Given the description of an element on the screen output the (x, y) to click on. 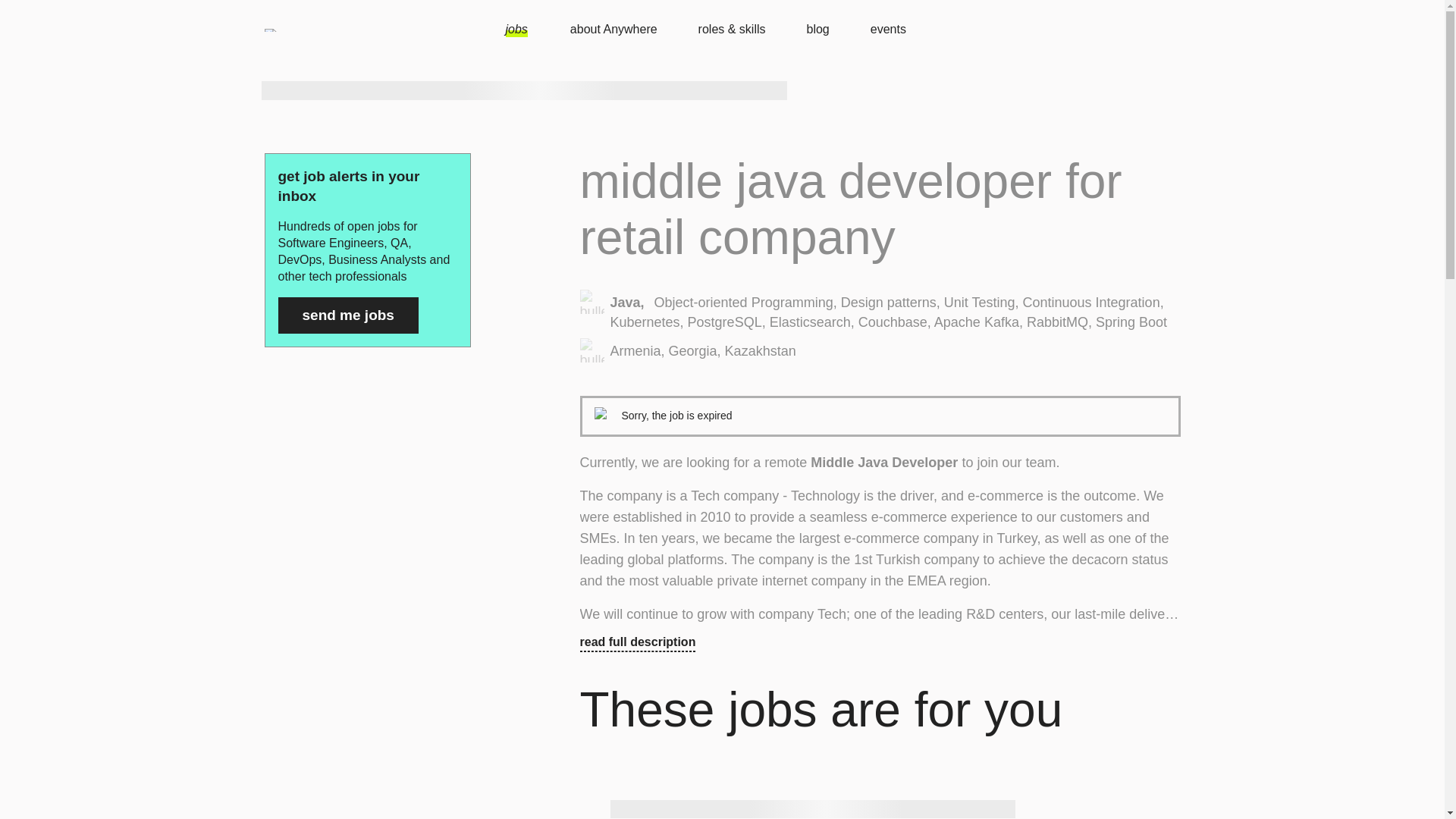
send me jobs (347, 315)
about Anywhere (622, 30)
jobs (531, 30)
events (887, 30)
